Given the description of an element on the screen output the (x, y) to click on. 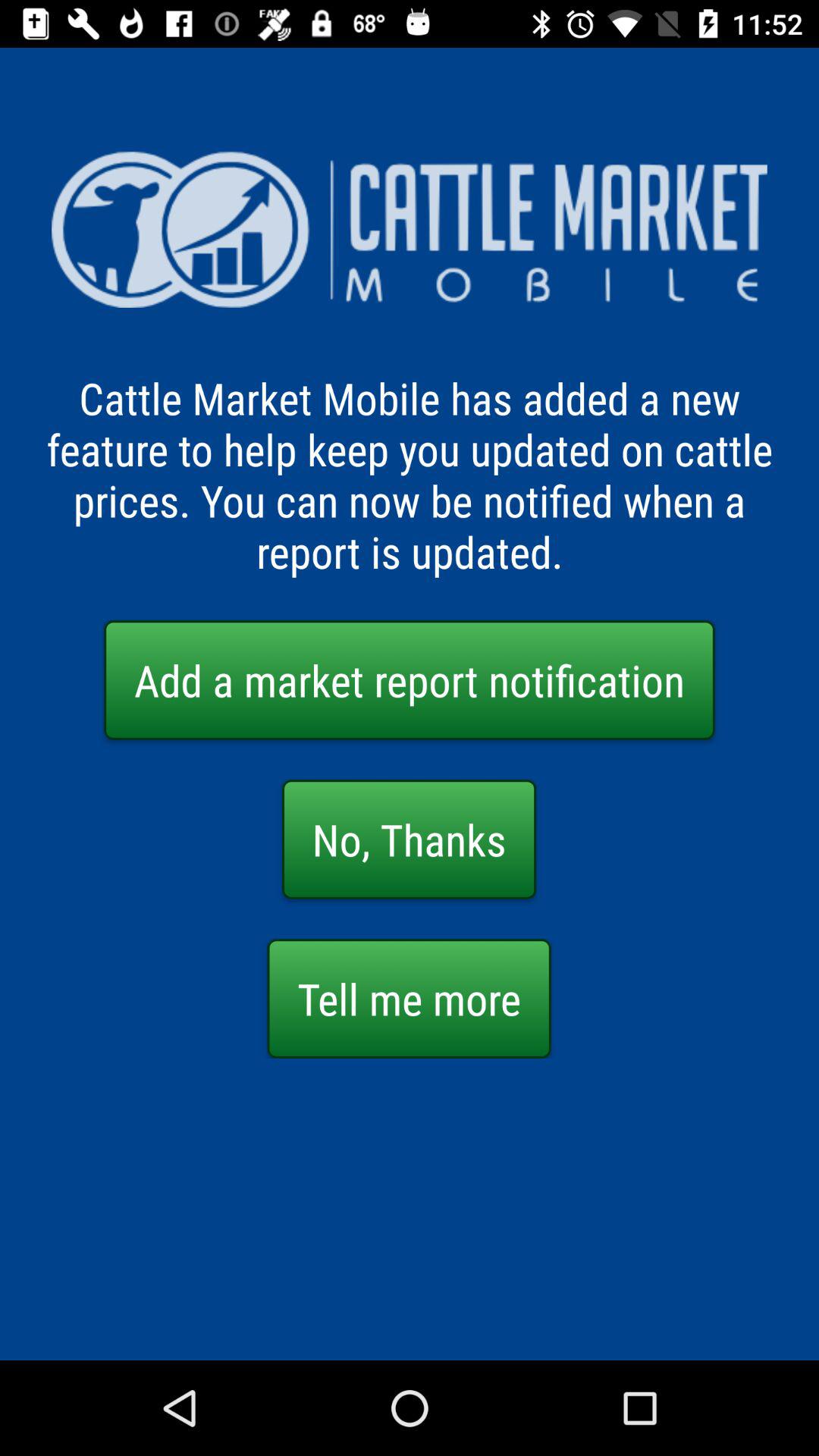
scroll until tell me more (409, 998)
